Given the description of an element on the screen output the (x, y) to click on. 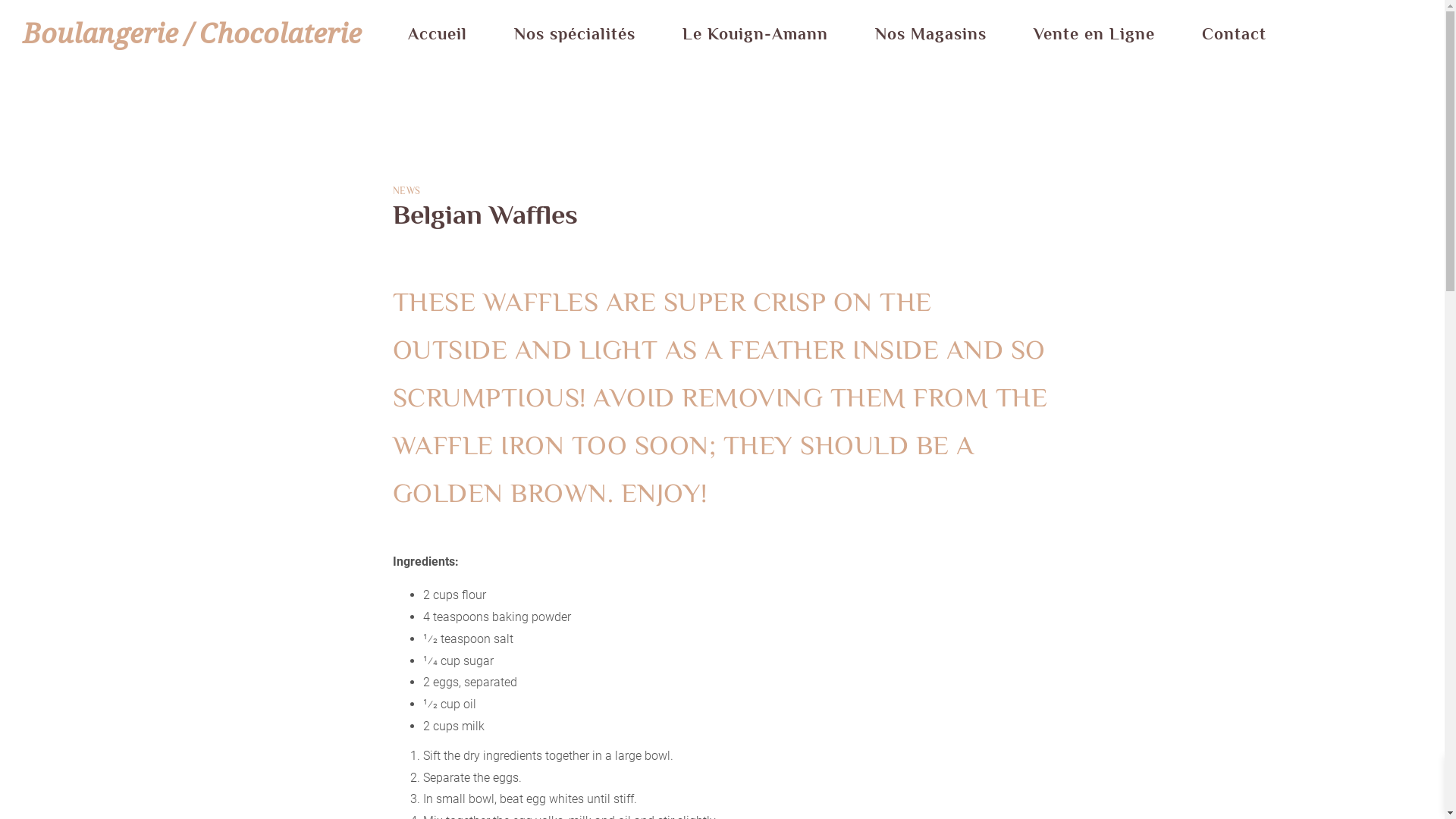
Boulangerie / Chocolaterie Element type: text (192, 45)
Nos Magasins Element type: text (930, 33)
Accueil Element type: text (437, 33)
Le Kouign-Amann Element type: text (755, 33)
Contact Element type: text (1233, 33)
NEWS Element type: text (406, 190)
Vente en Ligne Element type: text (1094, 33)
